Given the description of an element on the screen output the (x, y) to click on. 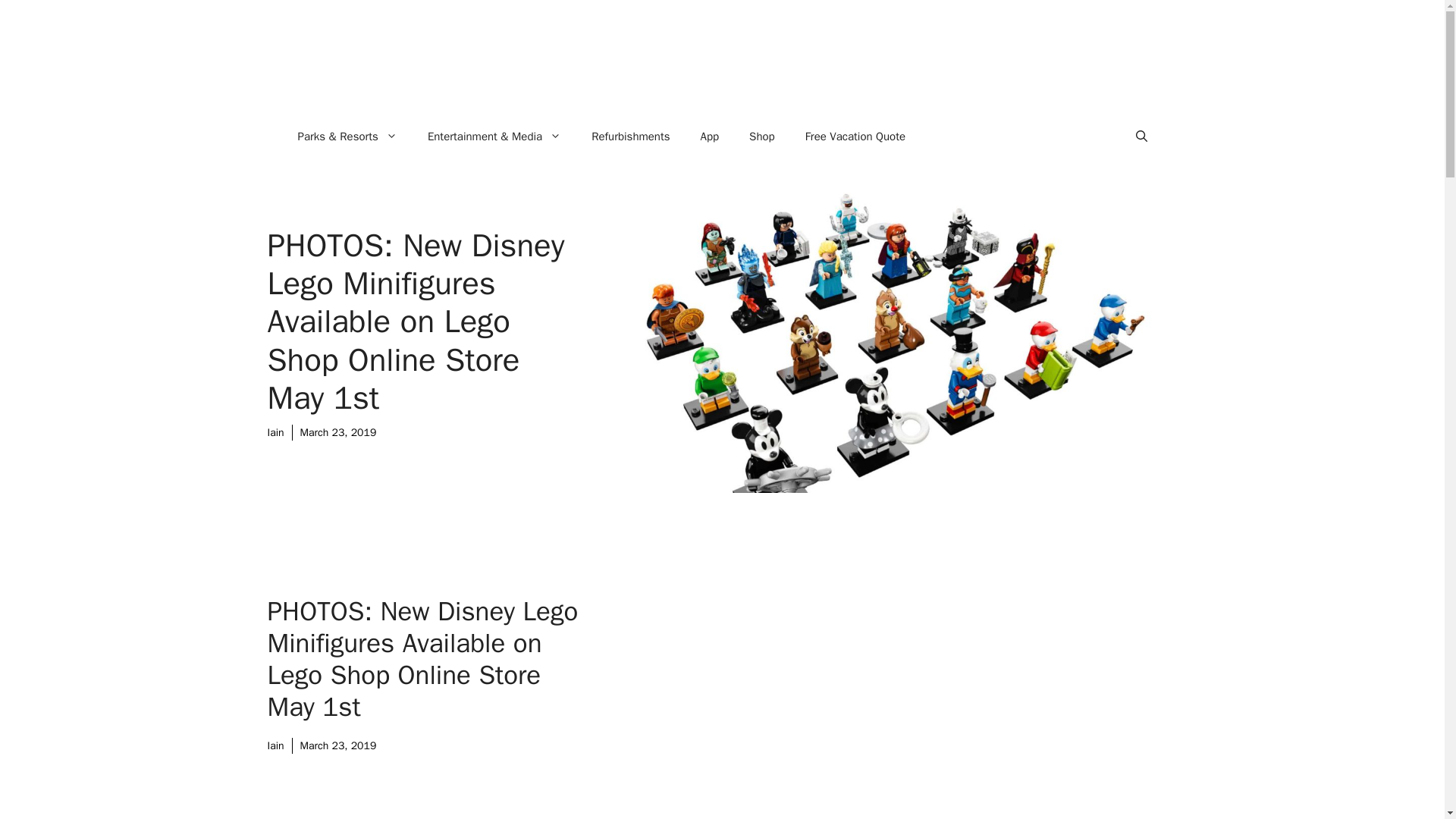
Refurbishments (630, 135)
Shop (761, 135)
Free Vacation Quote (855, 135)
App (710, 135)
